Given the description of an element on the screen output the (x, y) to click on. 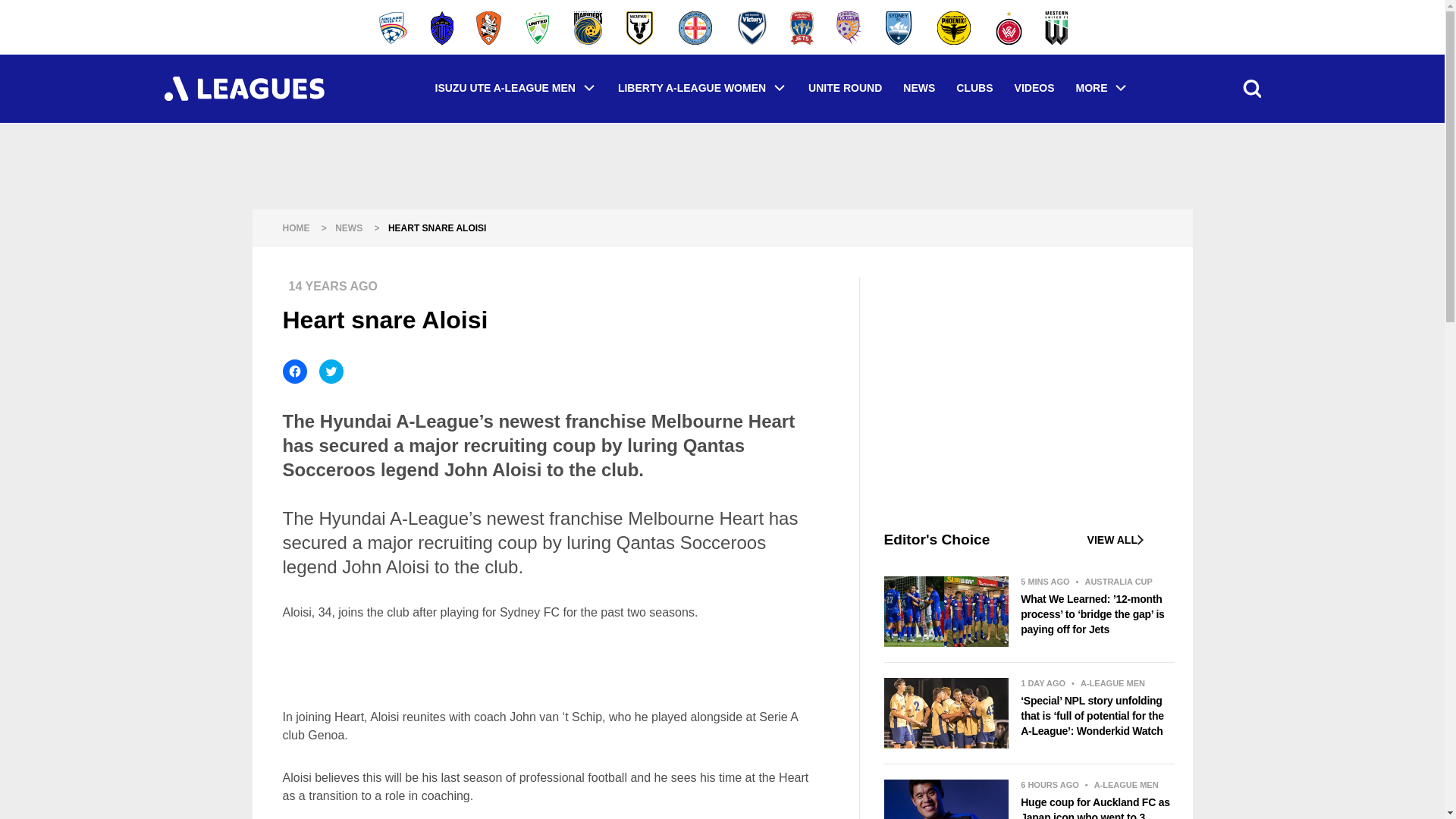
Click to share on Facebook (293, 371)
3rd party ad content (545, 664)
3rd party ad content (721, 165)
ISUZU UTE A-LEAGUE MEN (516, 87)
LIBERTY A-LEAGUE WOMEN (702, 87)
3rd party ad content (1028, 402)
Click to share on Twitter (330, 371)
